Given the description of an element on the screen output the (x, y) to click on. 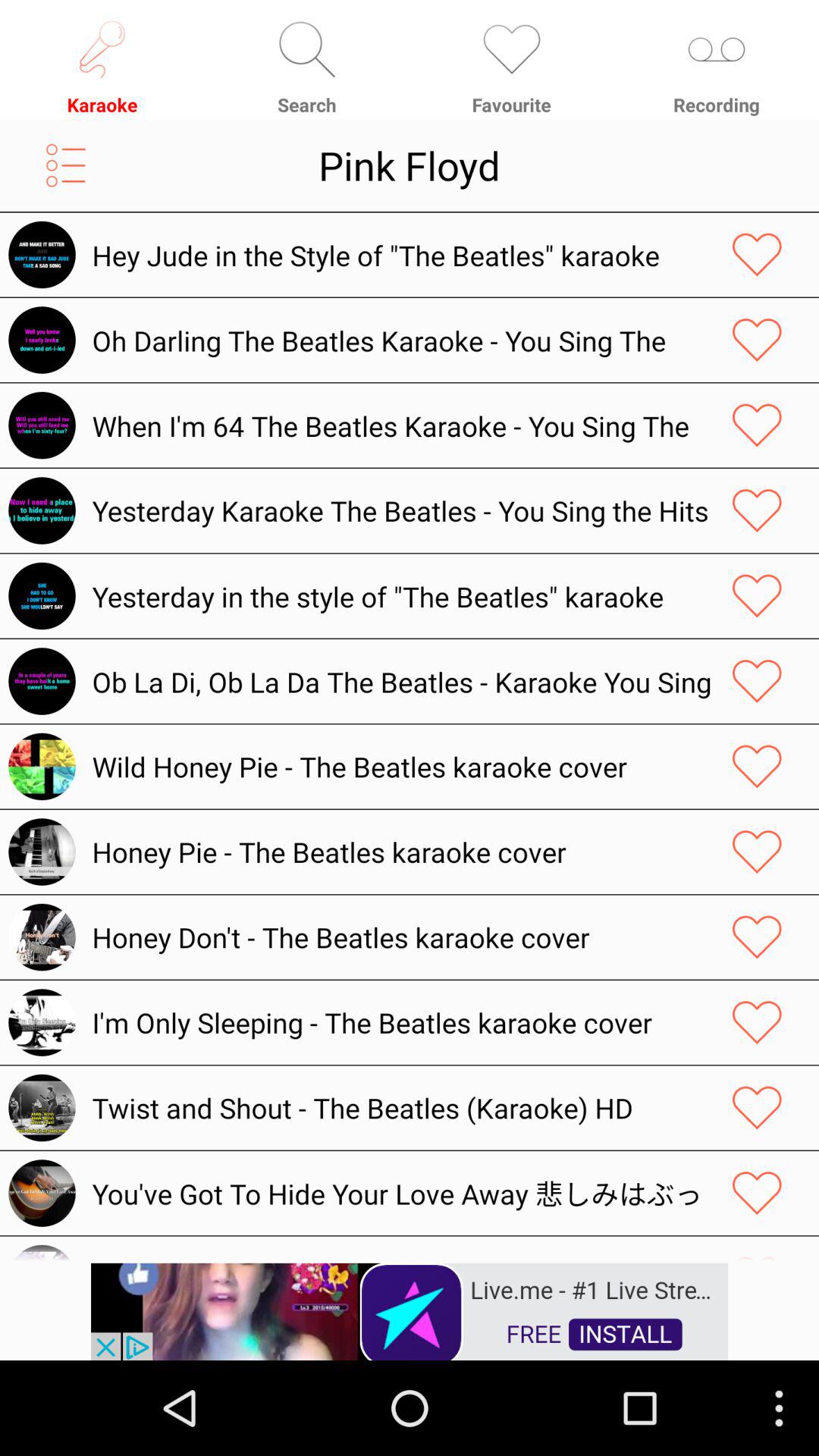
like this track (756, 1193)
